Given the description of an element on the screen output the (x, y) to click on. 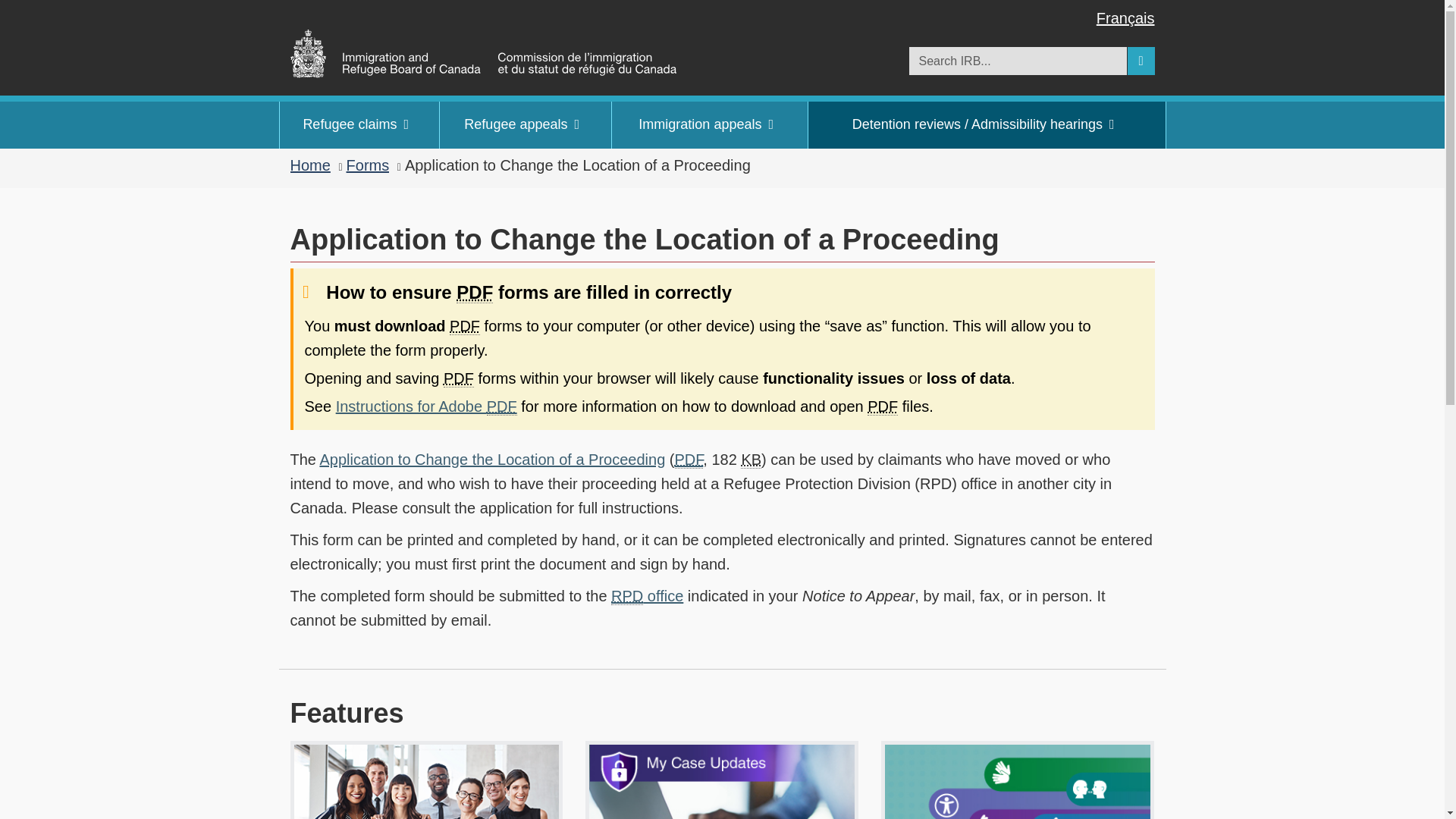
Portable document format (459, 378)
Search (1140, 60)
Portable document format (501, 406)
About portable document format (689, 459)
kilobyte (751, 459)
Portable document format (882, 406)
Refugee Protection Division (627, 596)
Portable document format (475, 292)
Skip to main content (731, 11)
Portable document format (464, 325)
